Given the description of an element on the screen output the (x, y) to click on. 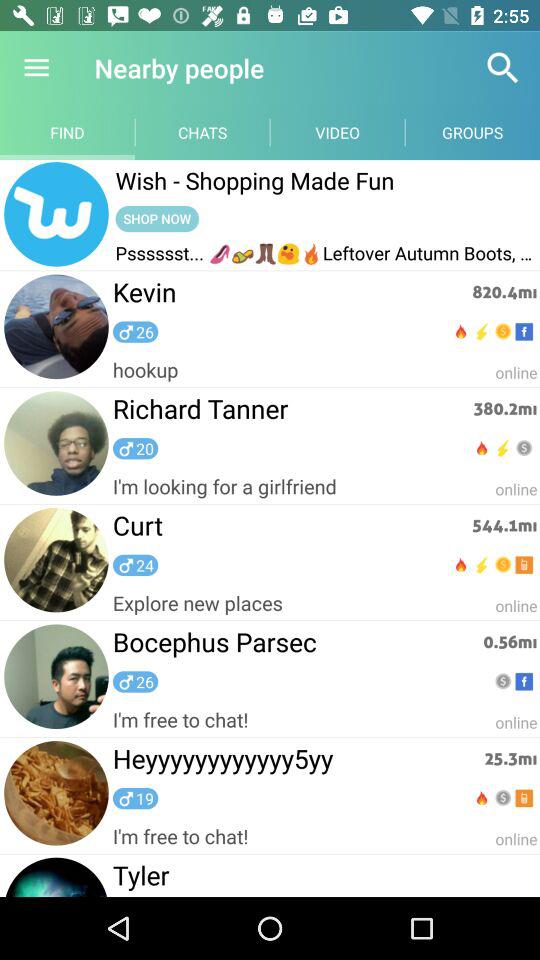
choose the item to the right of the video (503, 67)
